Given the description of an element on the screen output the (x, y) to click on. 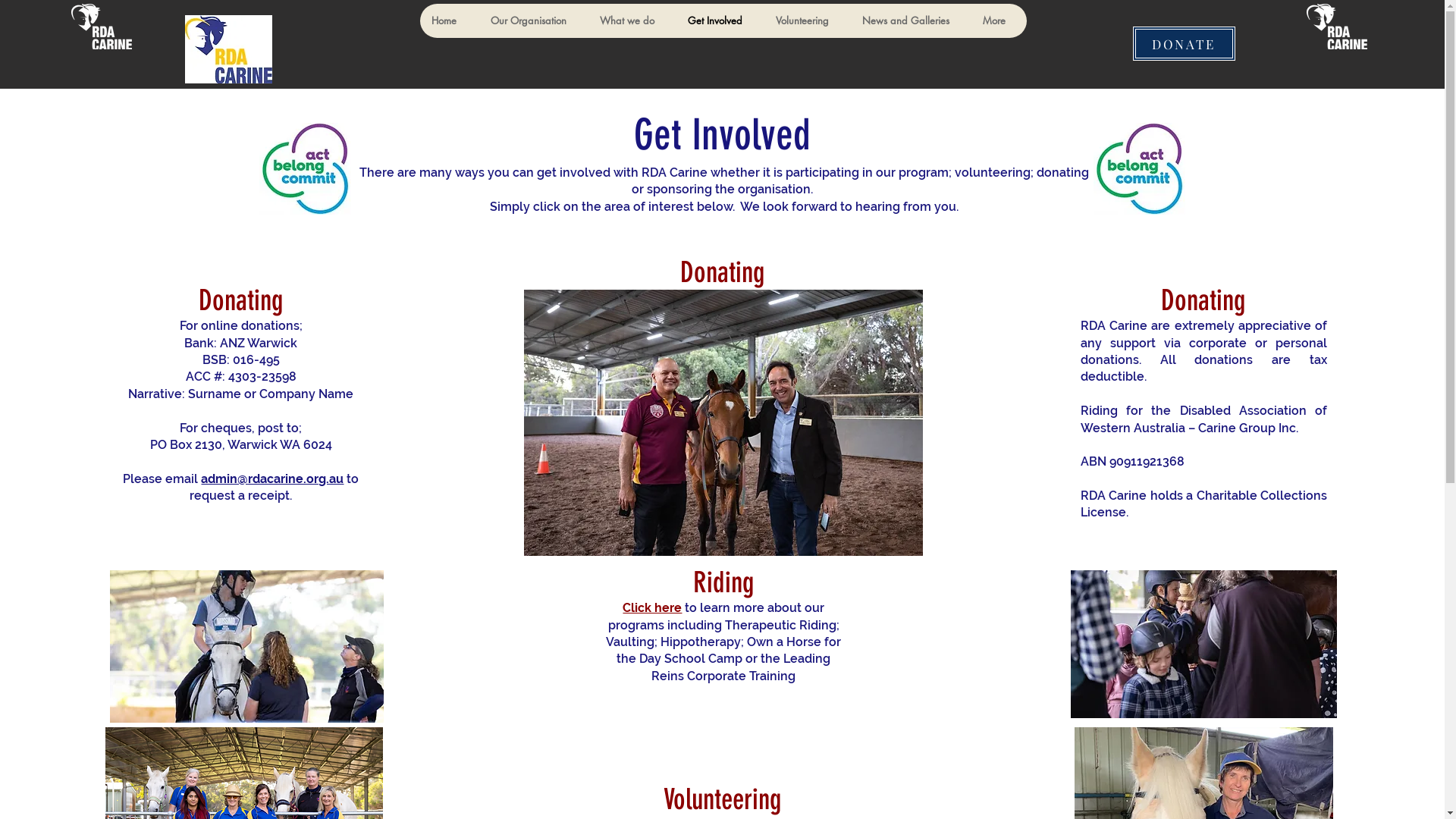
Get Involved Element type: text (718, 20)
_DV_4298.jpg Element type: hover (1203, 629)
RDA_Carine_Landscape_FullColour_logo.jpg Element type: hover (101, 26)
admin@rdacarine.org.au Element type: text (271, 478)
Home Element type: text (449, 20)
DONATE Element type: text (1183, 43)
_DV_0744.jpg Element type: hover (246, 631)
ACT-BELONG-COMMIT_Primary-Logo_Contained Element type: hover (1139, 168)
RDA_Carine_Landscape_FullColour_logo.jpg Element type: hover (228, 49)
News and Galleries Element type: text (909, 20)
Volunteering Element type: text (805, 20)
Our Organisation Element type: text (531, 20)
Click here Element type: text (651, 607)
ACT-BELONG-COMMIT_Primary-Logo_Contained Element type: hover (305, 168)
RDA_Carine_Landscape_FullColour_logo.jpg Element type: hover (1335, 26)
What we do Element type: text (630, 20)
_DV_3660.jpg Element type: hover (723, 422)
